Given the description of an element on the screen output the (x, y) to click on. 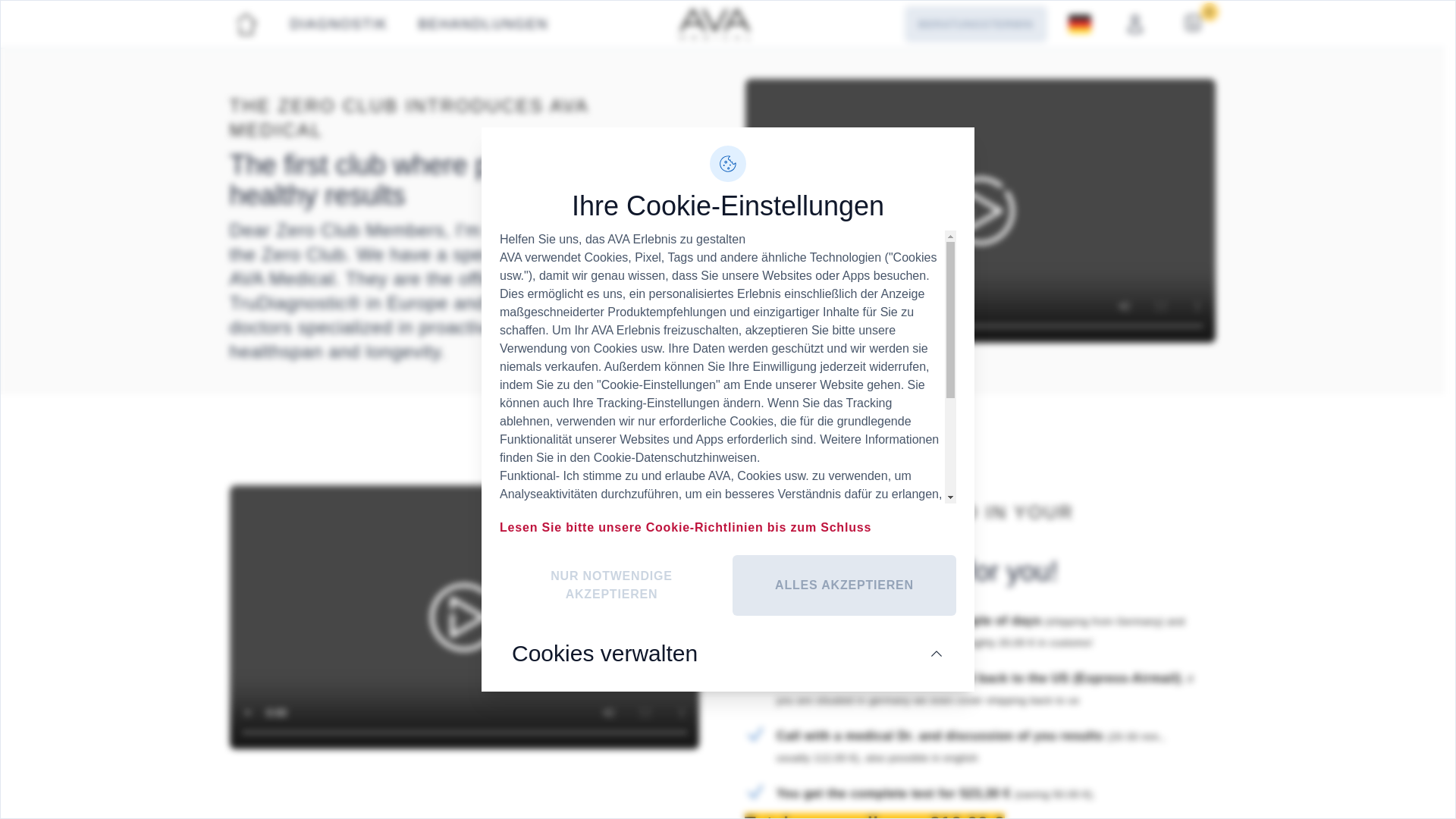
BERATUNGSTERMIN (975, 23)
Cookies verwalten (727, 653)
BERATUNGSTERMIN (975, 23)
NUR NOTWENDIGE AKZEPTIEREN (611, 585)
ALLES AKZEPTIEREN (844, 585)
